Given the description of an element on the screen output the (x, y) to click on. 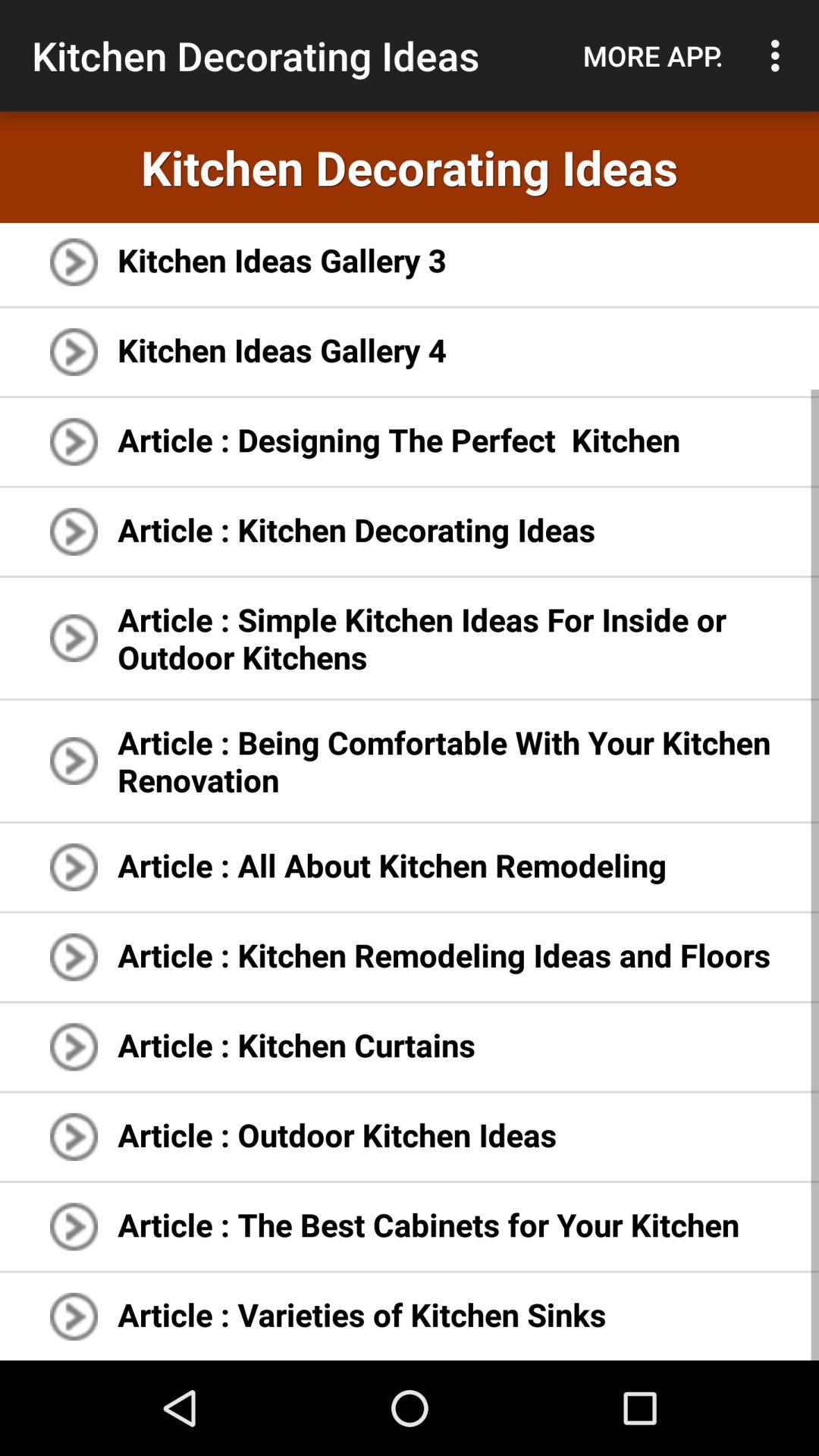
turn on the icon to the right of the more app. (779, 55)
